Given the description of an element on the screen output the (x, y) to click on. 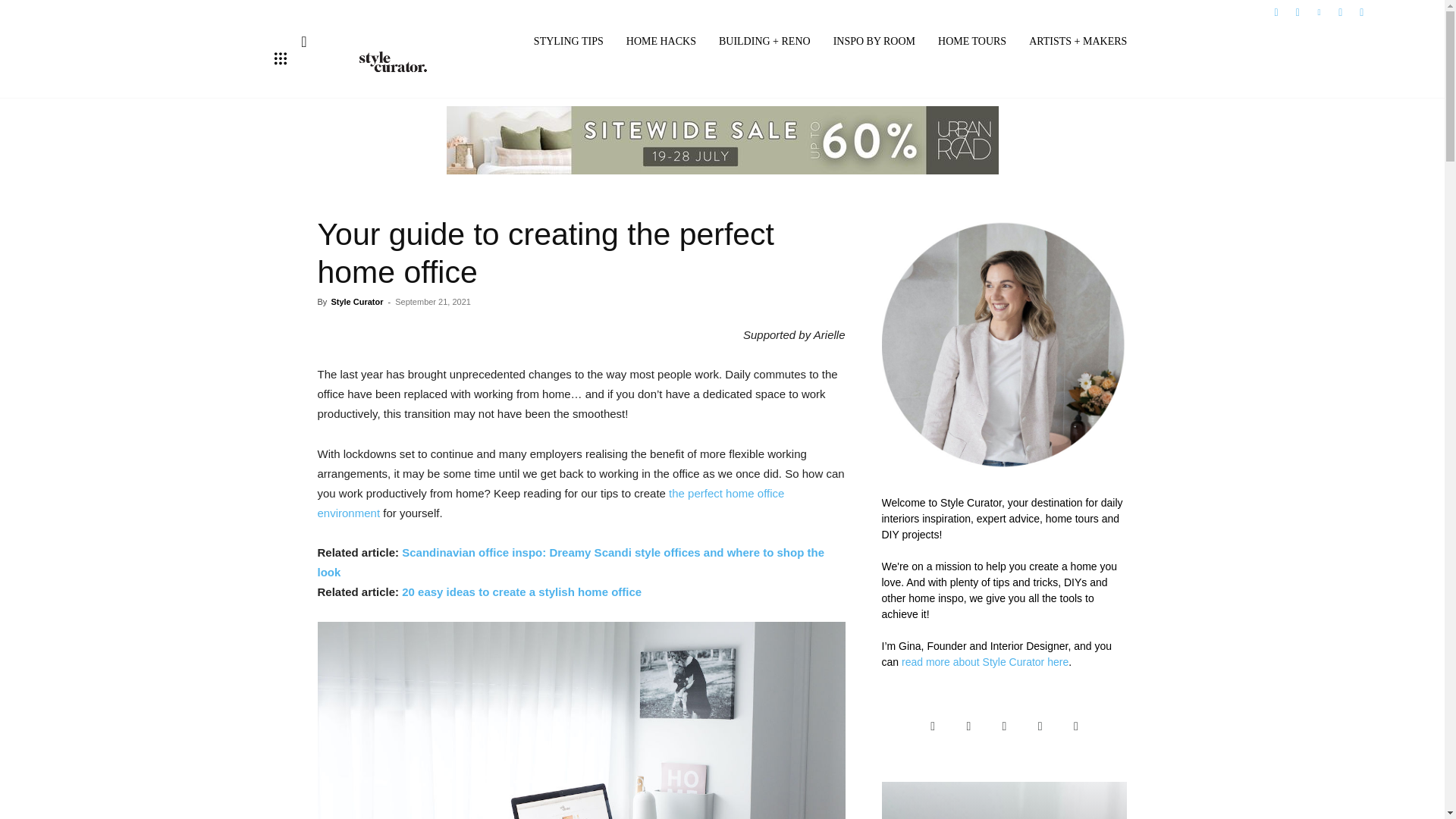
Tiktok (1340, 10)
HOME HACKS (660, 41)
Instagram (1297, 10)
Facebook (1275, 10)
INSPO BY ROOM (874, 41)
Create a home you love (394, 61)
Youtube (1361, 10)
STYLING TIPS (568, 41)
Pinterest (1317, 10)
